Given the description of an element on the screen output the (x, y) to click on. 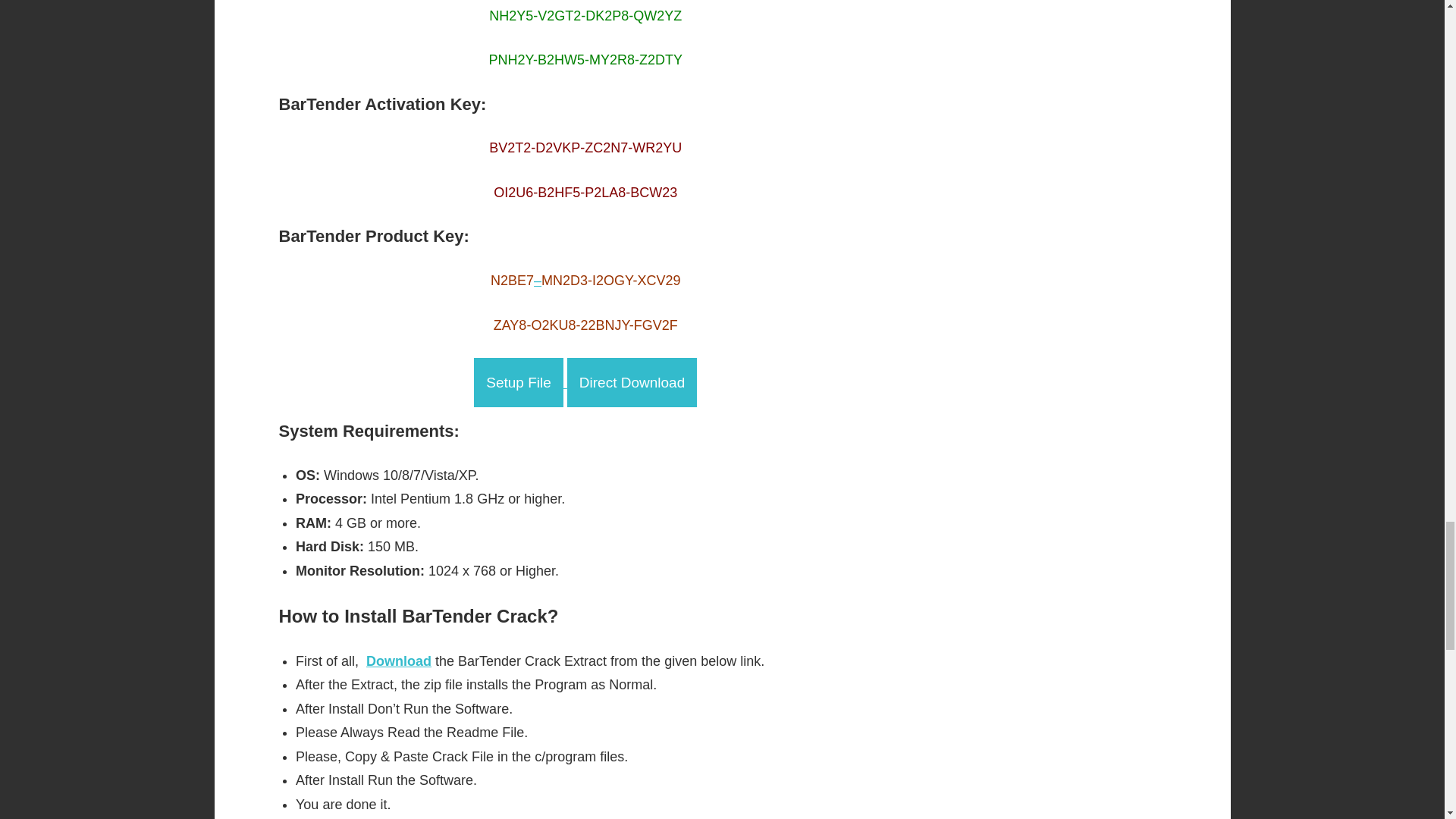
Download (398, 661)
Direct Download (632, 382)
Setup File (518, 382)
Setup File Direct Download (585, 382)
